Given the description of an element on the screen output the (x, y) to click on. 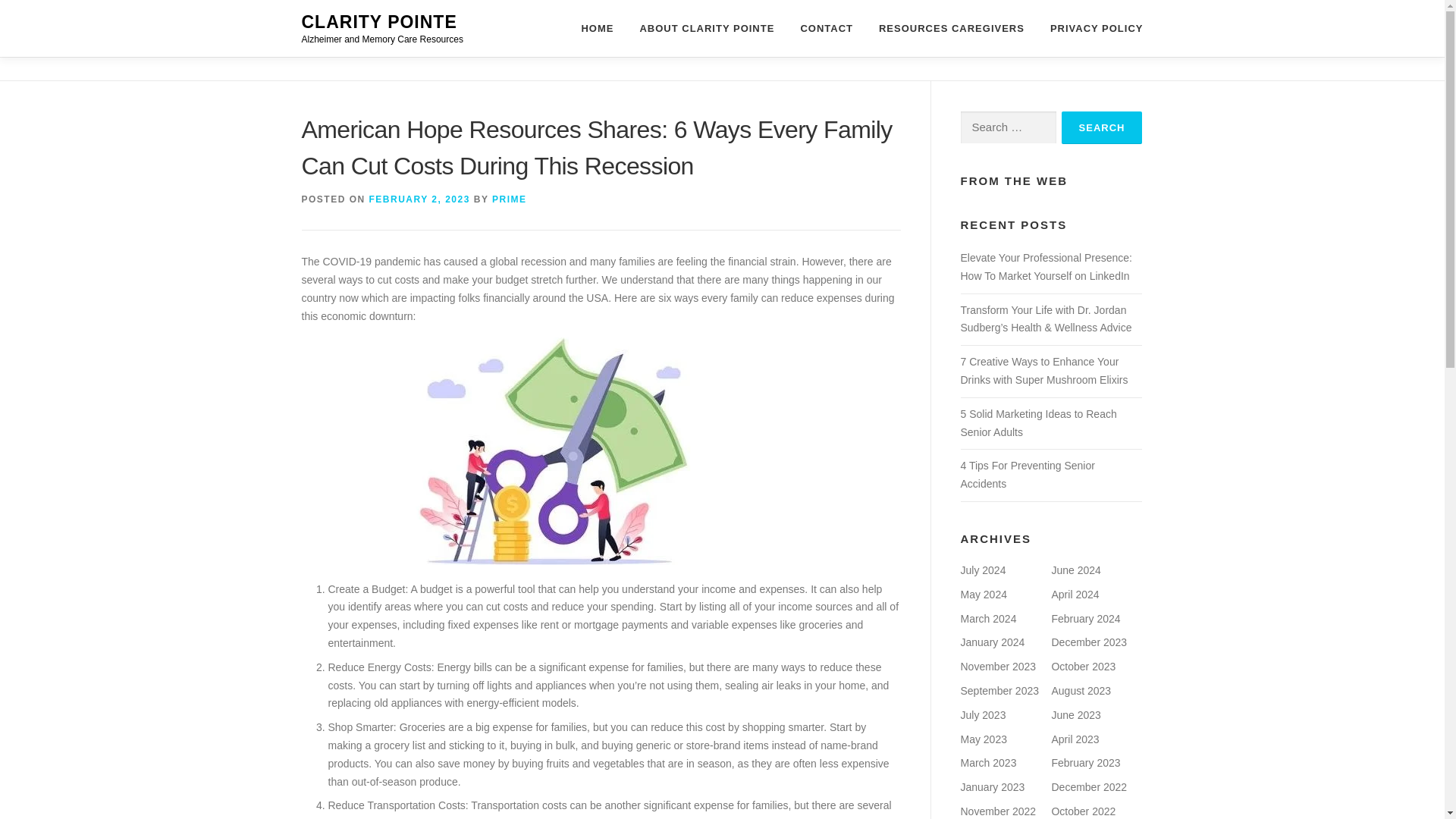
ABOUT CLARITY POINTE (706, 28)
April 2023 (1075, 739)
RESOURCES CAREGIVERS (951, 28)
FEBRUARY 2, 2023 (419, 199)
5 Solid Marketing Ideas to Reach Senior Adults (1037, 422)
July 2023 (982, 715)
CLARITY POINTE (379, 21)
July 2024 (982, 570)
April 2024 (1075, 594)
November 2023 (997, 666)
March 2024 (987, 618)
4 Tips For Preventing Senior Accidents (1026, 474)
Search (1101, 127)
January 2023 (992, 787)
